Given the description of an element on the screen output the (x, y) to click on. 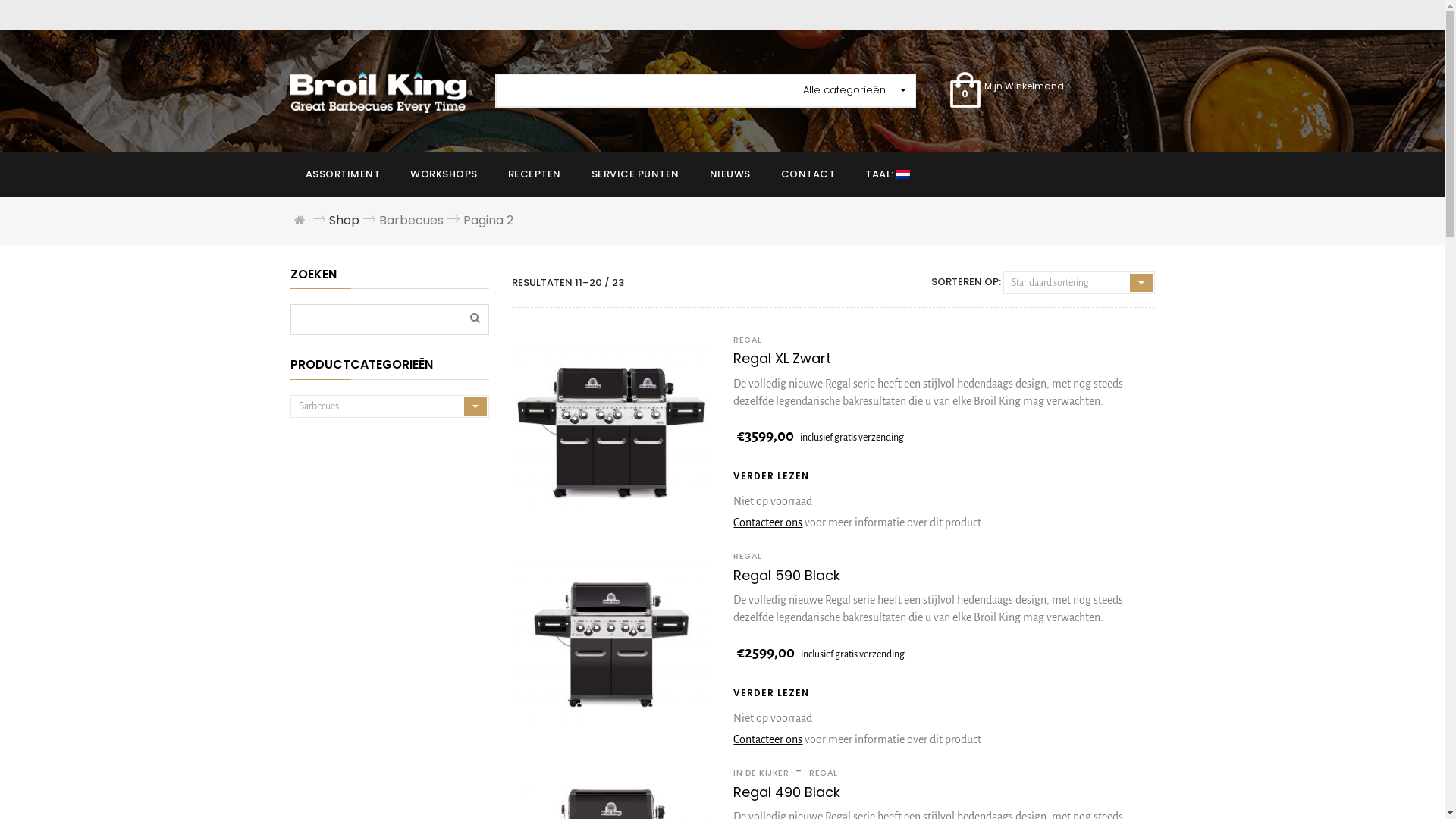
REGAL Element type: text (747, 555)
Contacteer ons Element type: text (767, 739)
CONTACT Element type: text (807, 174)
Shop Element type: text (344, 220)
0 Element type: text (964, 90)
WORKSHOPS Element type: text (443, 174)
VERDER LEZEN Element type: text (771, 694)
REGAL Element type: text (821, 772)
  Element type: text (483, 313)
RECEPTEN Element type: text (534, 174)
SERVICE PUNTEN Element type: text (635, 174)
ASSORTIMENT Element type: text (342, 174)
VERDER LEZEN Element type: text (771, 477)
Regal 590 Black Element type: text (786, 574)
Regal 490 Black Element type: text (786, 791)
REGAL Element type: text (747, 339)
IN DE KIJKER Element type: text (762, 772)
NIEUWS Element type: text (729, 174)
TAAL:  Element type: text (887, 174)
Regal XL Zwart Element type: text (782, 357)
Broil King BeNeLux Element type: hover (380, 91)
Contacteer ons Element type: text (767, 522)
